Given the description of an element on the screen output the (x, y) to click on. 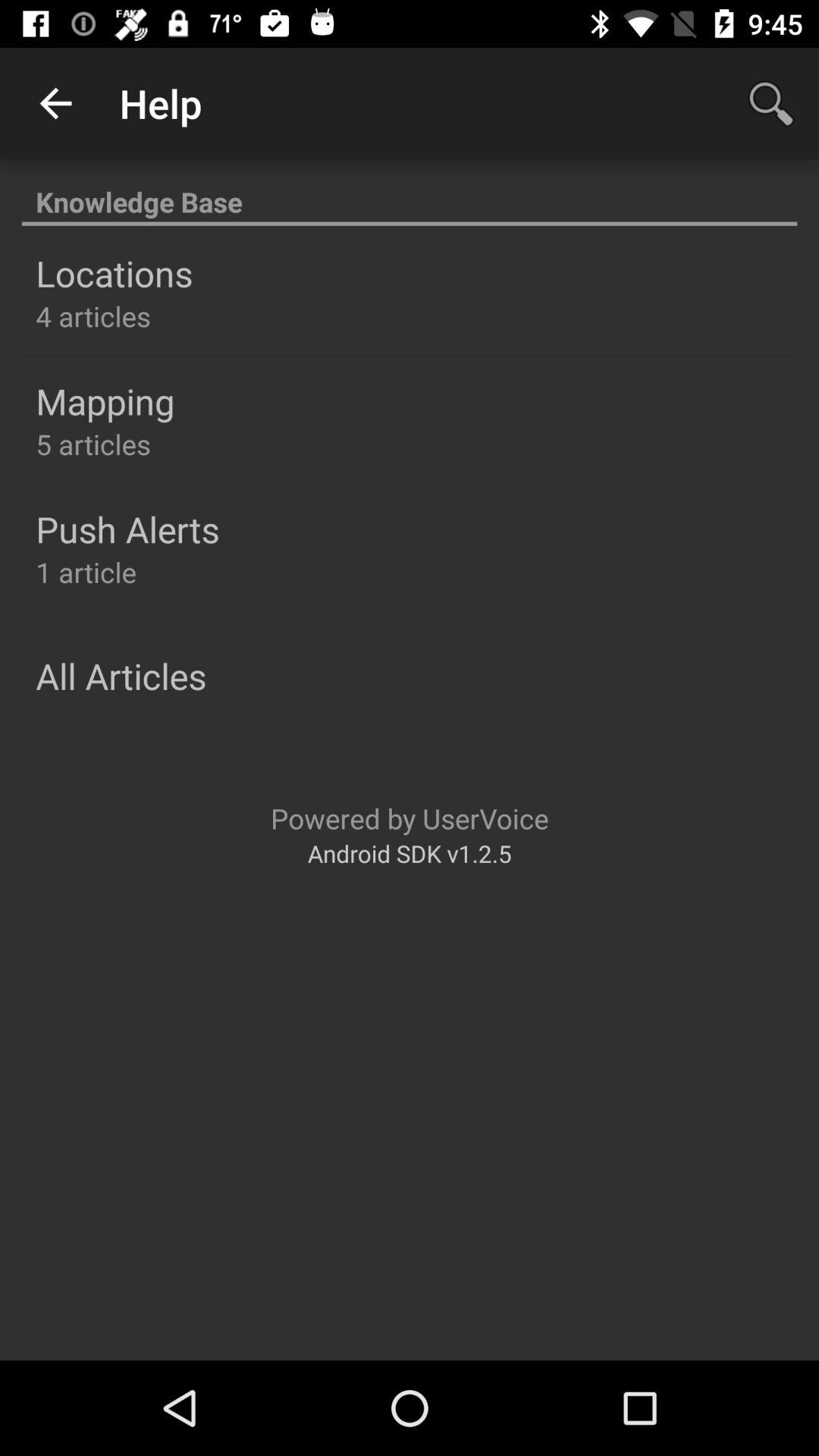
scroll to 4 articles (92, 315)
